Given the description of an element on the screen output the (x, y) to click on. 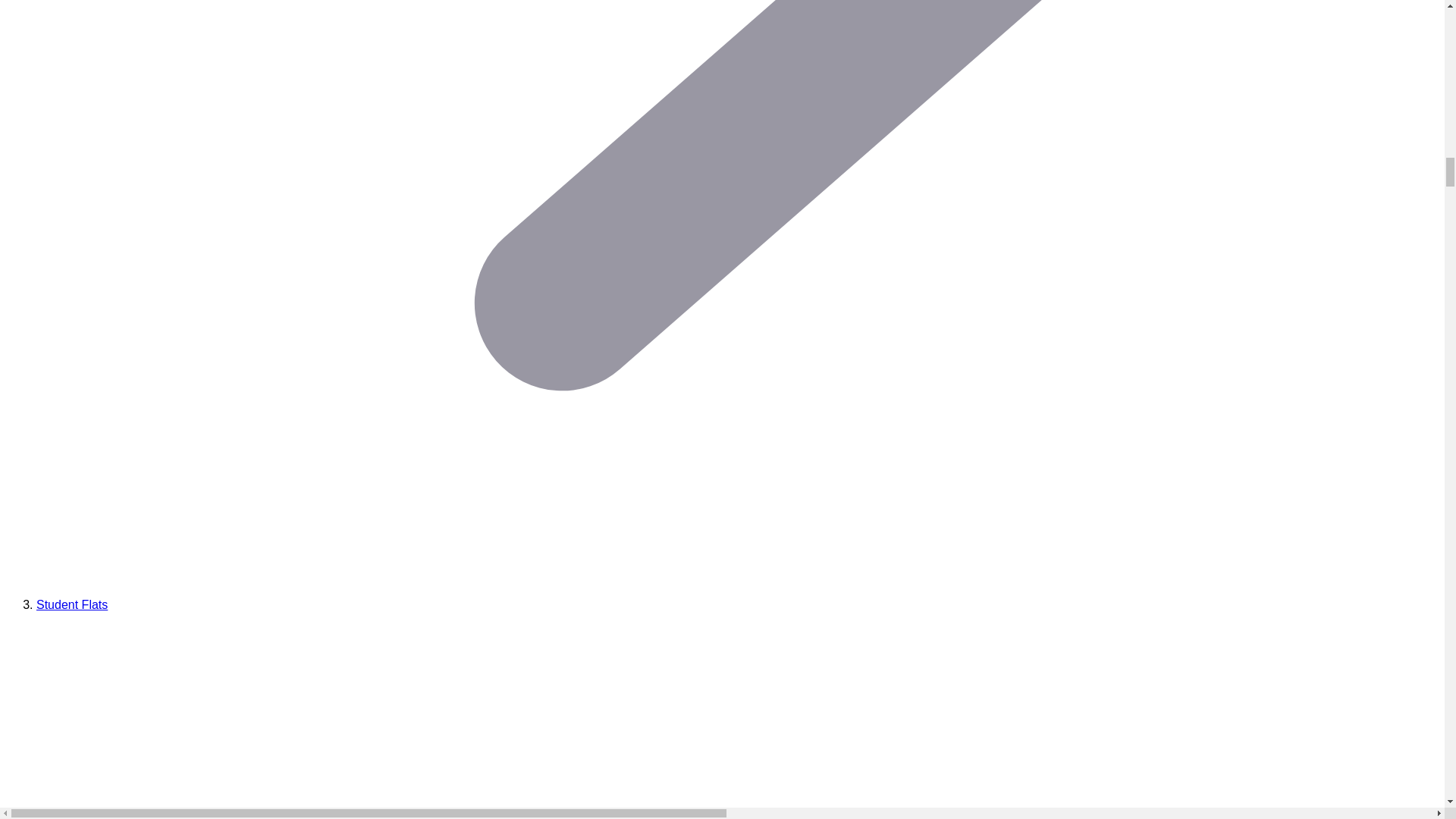
Student Flats (71, 604)
